Given the description of an element on the screen output the (x, y) to click on. 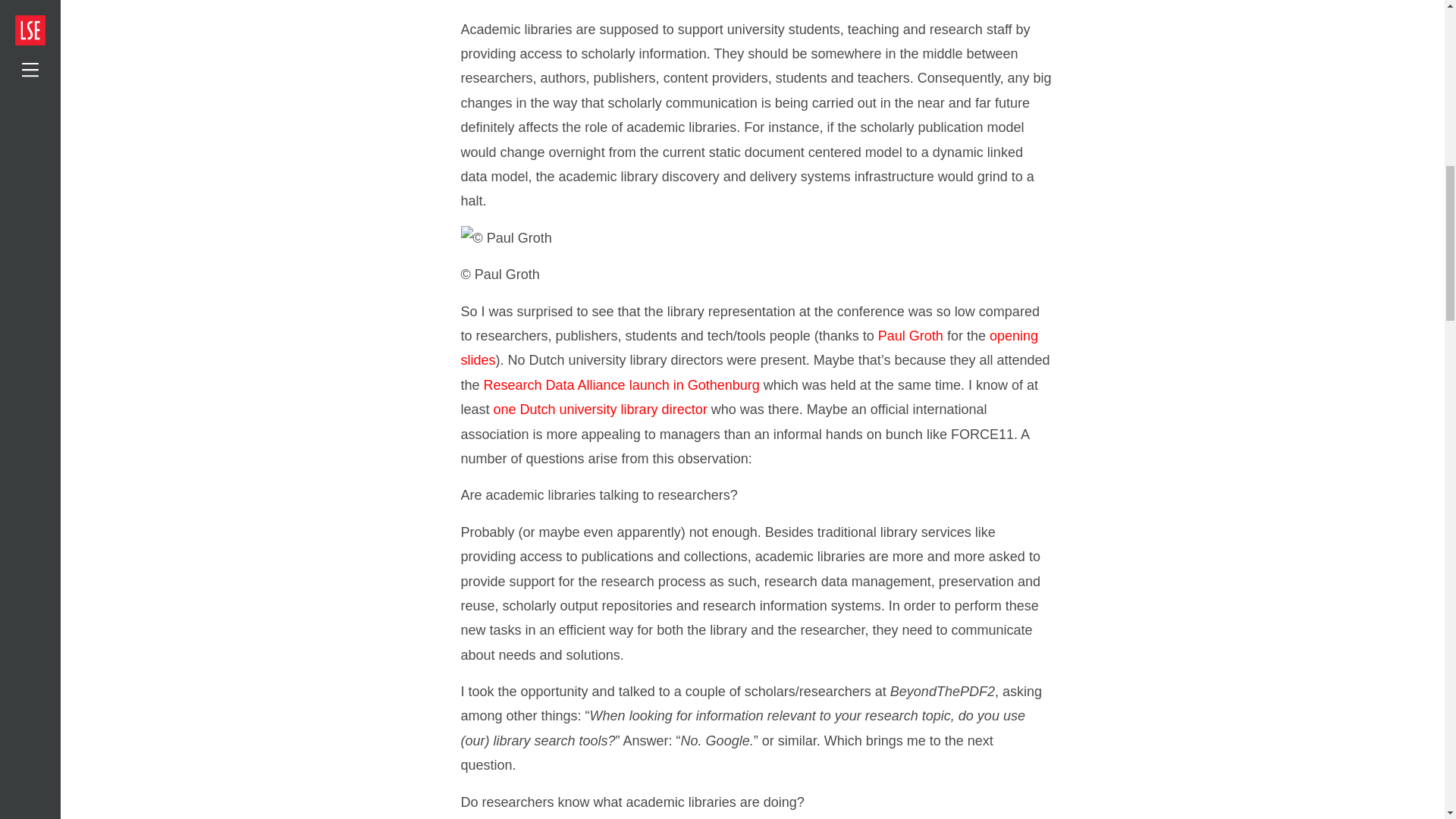
launch in Gothenburg (694, 385)
opening slides (749, 347)
Research Data Alliance (554, 385)
Paul Groth (910, 335)
one Dutch university library director (600, 409)
